Given the description of an element on the screen output the (x, y) to click on. 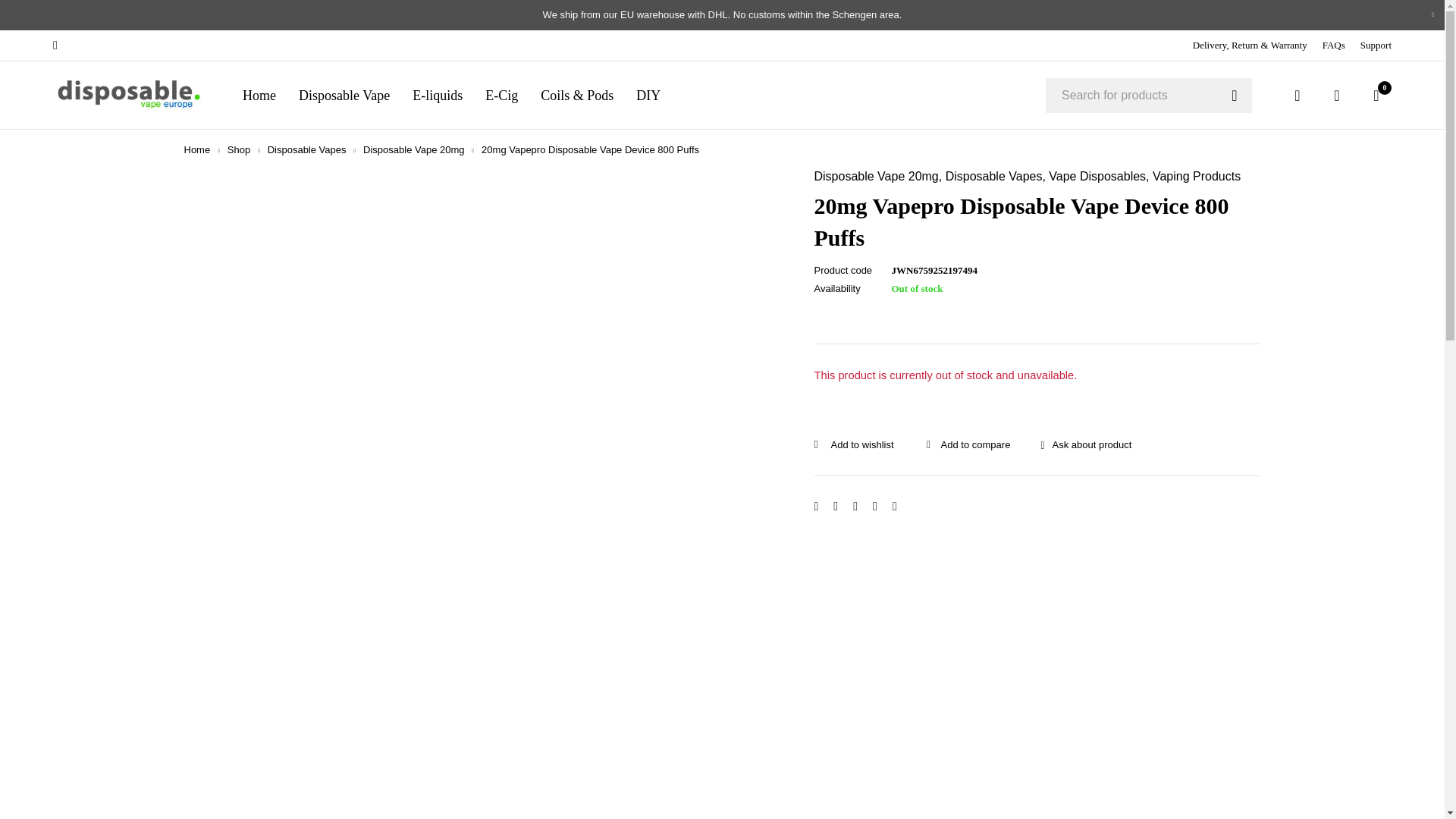
Wishlist (1337, 95)
Disposable Vape (344, 95)
Search (1234, 95)
View your shopping cart (1376, 95)
E-Cig (501, 95)
Home (259, 95)
Support (1375, 45)
E-liquids (437, 95)
FAQs (1333, 45)
Disposable Vape Europe (128, 94)
